Given the description of an element on the screen output the (x, y) to click on. 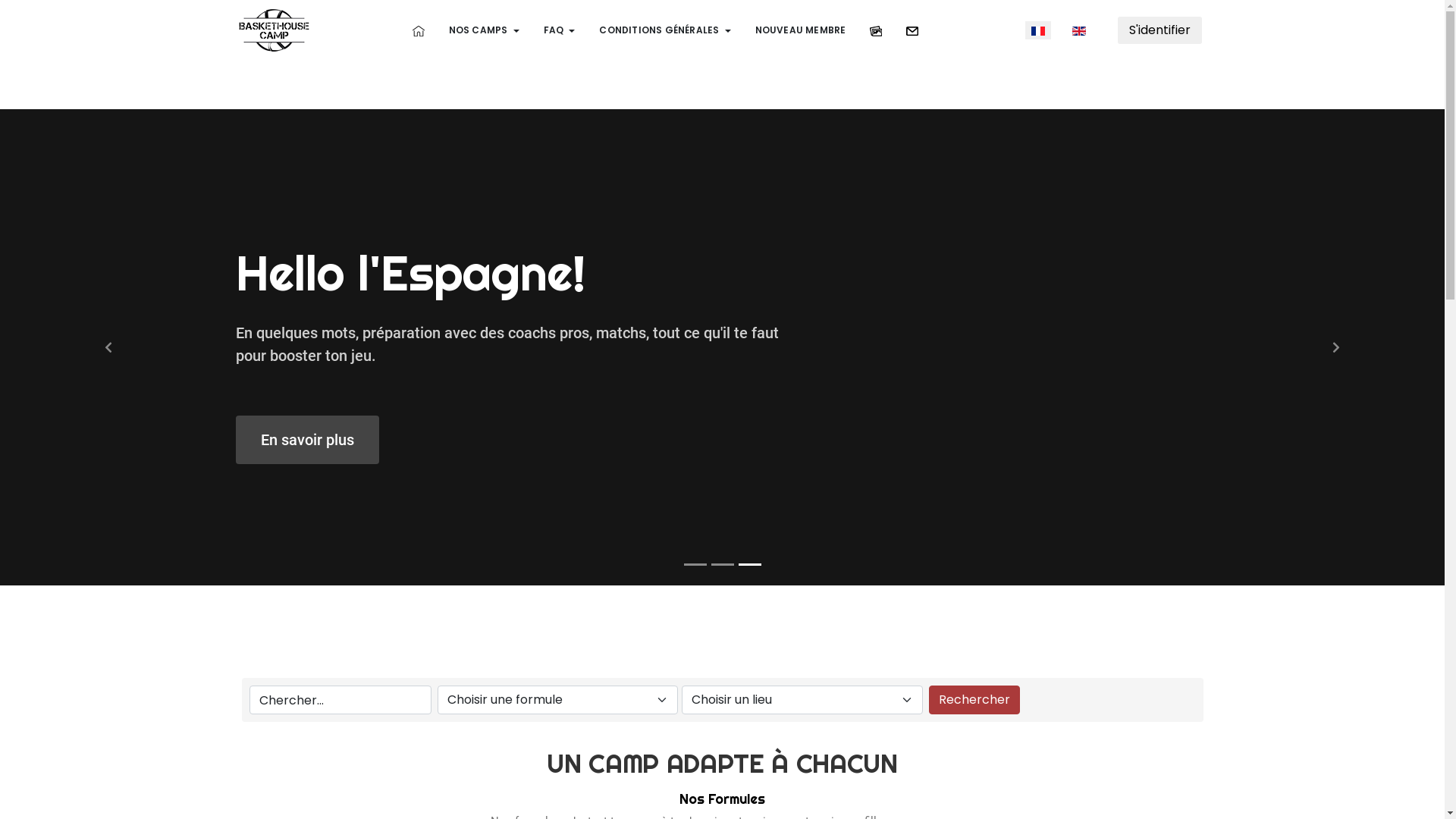
S'identifier Element type: text (1159, 29)
English (United Kingdom) Element type: hover (1078, 30)
NOUVEAU MEMBRE Element type: text (800, 30)
Next Element type: text (1335, 308)
Previous Element type: text (108, 308)
www.baskethouse-camp.ch Element type: hover (273, 28)
Rechercher Element type: text (973, 622)
